Given the description of an element on the screen output the (x, y) to click on. 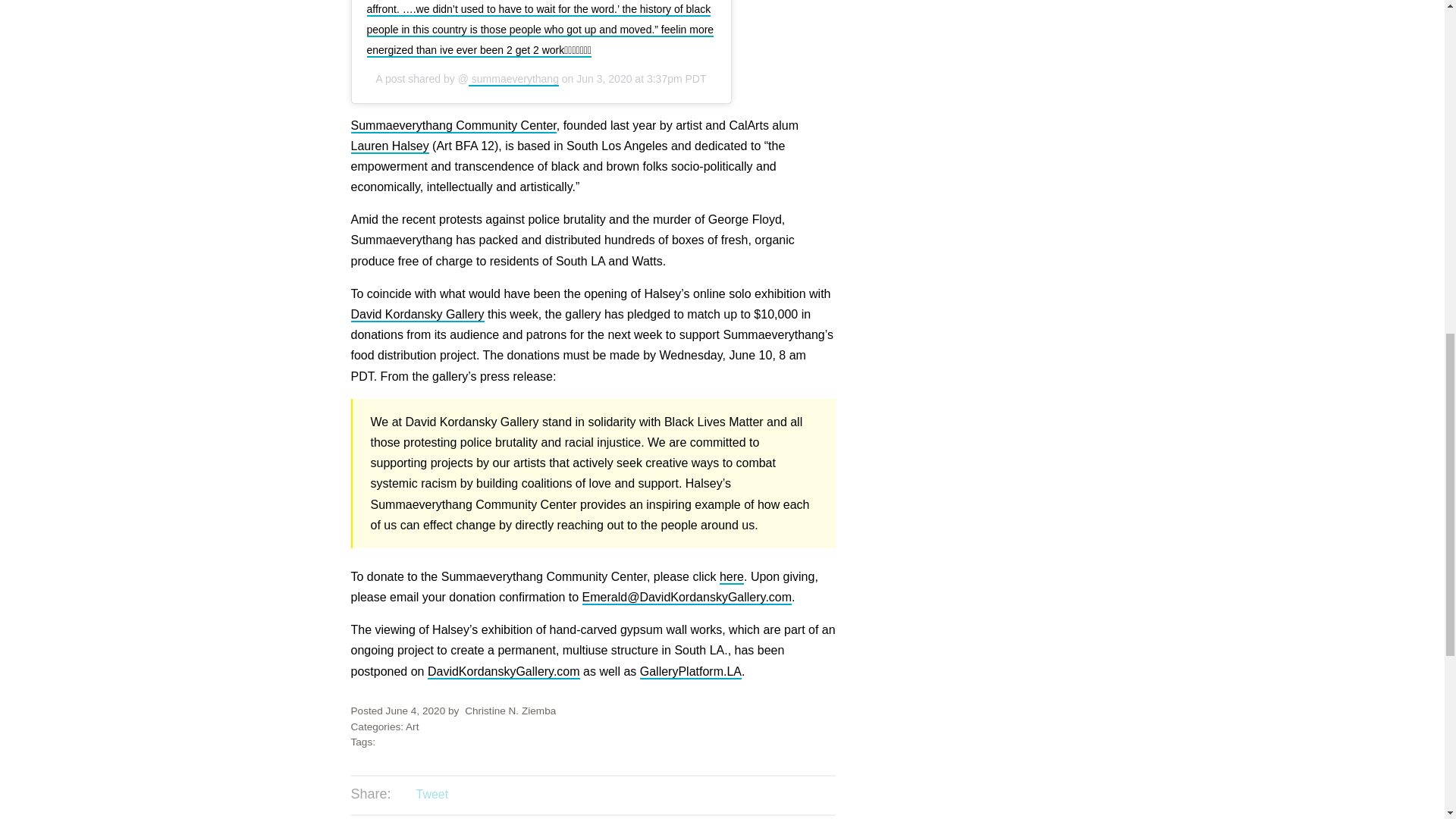
Share on Tumblr (493, 794)
GalleryPlatform.LA (690, 672)
Share on Tumblr (493, 794)
Christine N. Ziemba (510, 710)
DavidKordanskyGallery.com (503, 672)
Lauren Halsey (389, 146)
Posts by Christine N. Ziemba (510, 710)
here (731, 577)
Tweet (431, 793)
Art (412, 726)
Summaeverythang Community Center (453, 125)
summaeverythang (513, 79)
David Kordansky Gallery (416, 314)
